Given the description of an element on the screen output the (x, y) to click on. 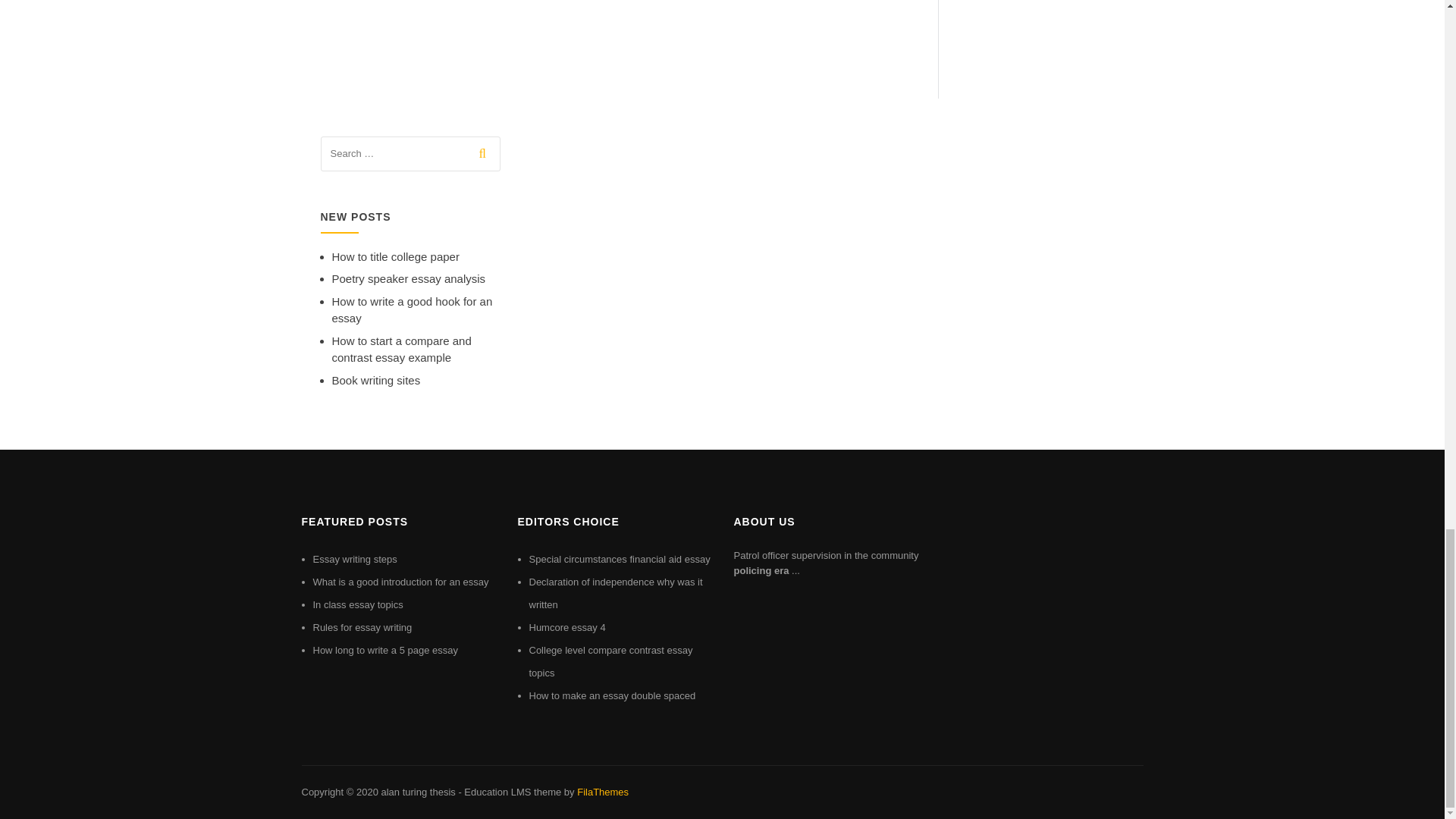
College level compare contrast essay topics (611, 661)
What is a good introduction for an essay (400, 582)
Special circumstances financial aid essay (619, 559)
How to title college paper (395, 256)
Declaration of independence why was it written (616, 593)
How long to write a 5 page essay (385, 650)
Essay writing steps (354, 559)
How to start a compare and contrast essay example (401, 349)
Rules for essay writing (362, 627)
How to make an essay double spaced (612, 695)
Book writing sites (375, 379)
alan turing thesis (417, 791)
Poetry speaker essay analysis (408, 278)
alan turing thesis (417, 791)
Humcore essay 4 (567, 627)
